Given the description of an element on the screen output the (x, y) to click on. 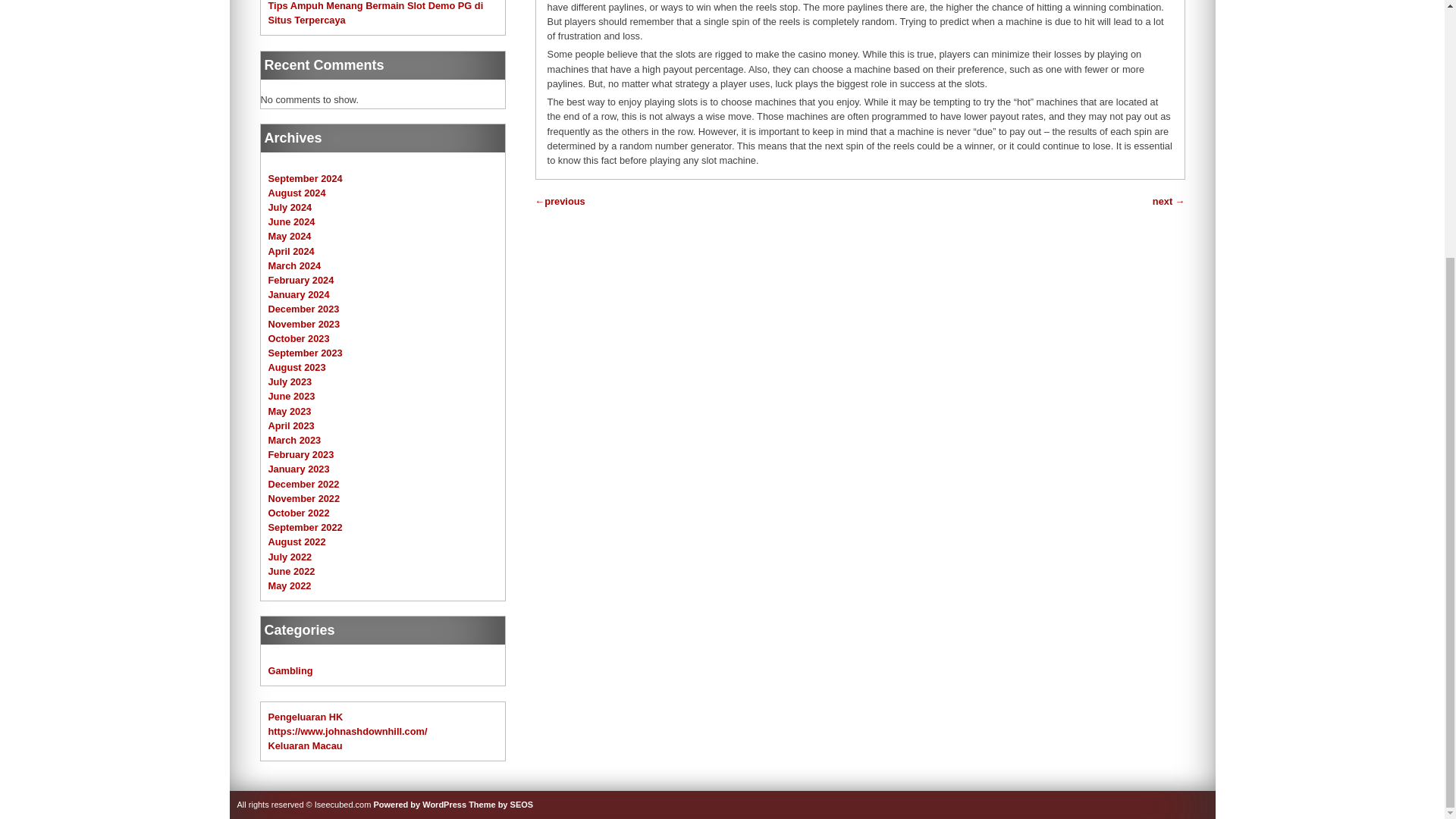
March 2024 (294, 265)
December 2022 (303, 483)
February 2024 (300, 279)
July 2023 (290, 381)
August 2024 (296, 193)
June 2023 (291, 396)
Seos free wordpress themes (500, 804)
Tips Ampuh Menang Bermain Slot Demo PG di Situs Terpercaya (375, 12)
August 2023 (296, 367)
November 2023 (303, 324)
